Given the description of an element on the screen output the (x, y) to click on. 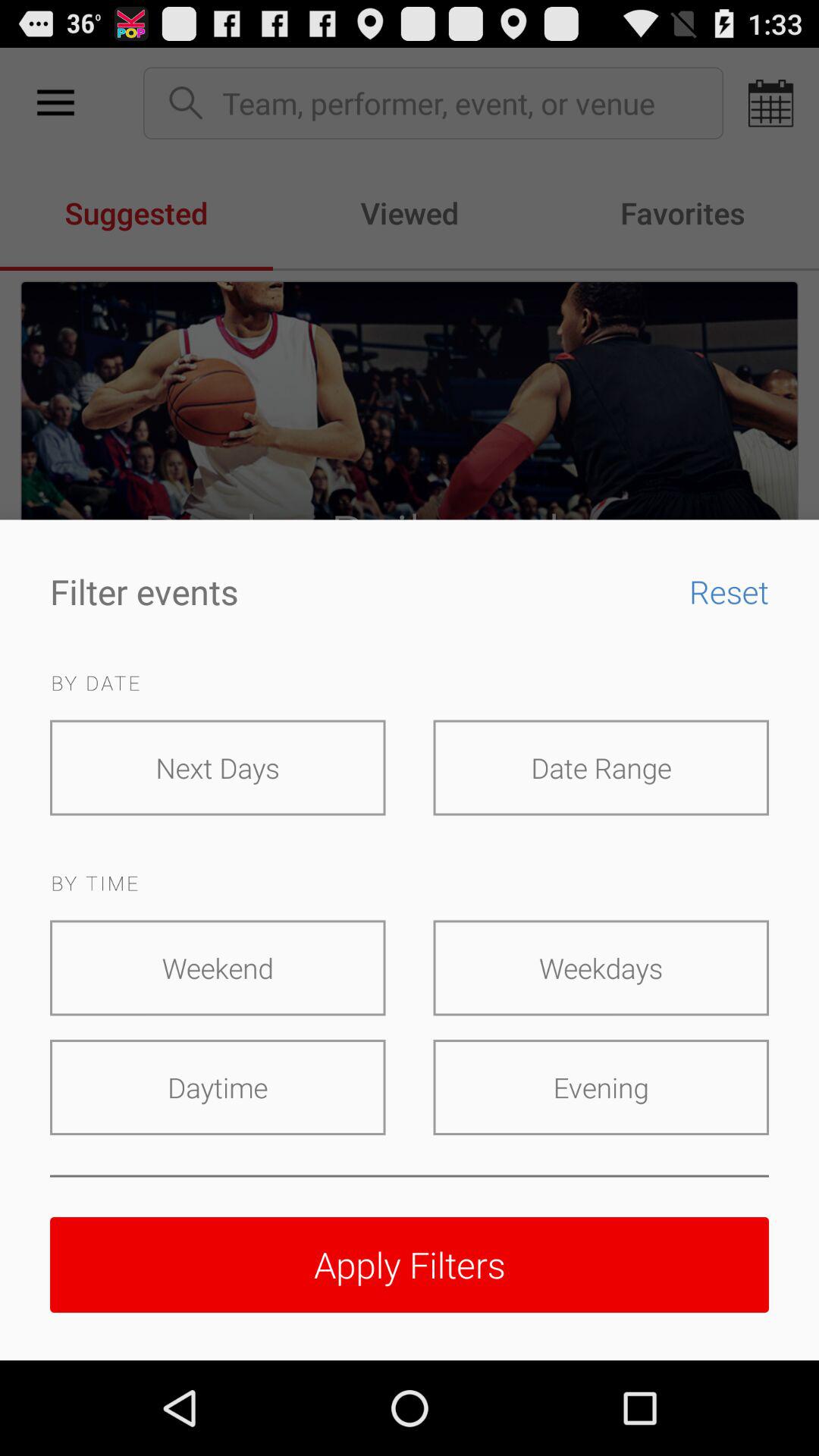
select the item below weekdays (600, 1087)
